Given the description of an element on the screen output the (x, y) to click on. 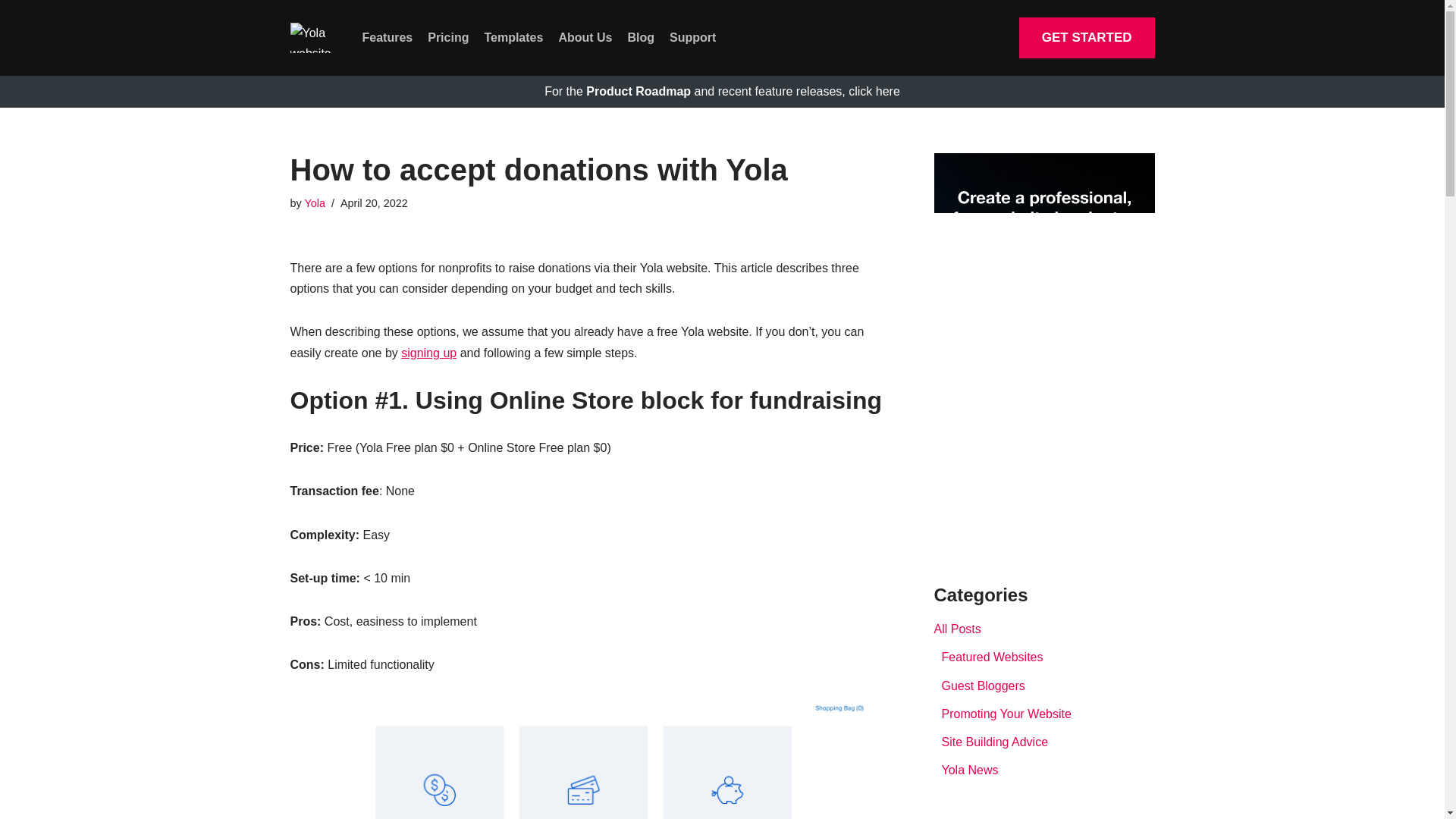
Posts by Yola (314, 203)
Skip to content (11, 31)
Templates (513, 37)
Pricing (448, 37)
Yola Blog (314, 38)
Blog (641, 37)
GET STARTED (1086, 37)
Support (692, 37)
About Us (584, 37)
Yola (314, 203)
signing up (429, 352)
Features (387, 37)
